Given the description of an element on the screen output the (x, y) to click on. 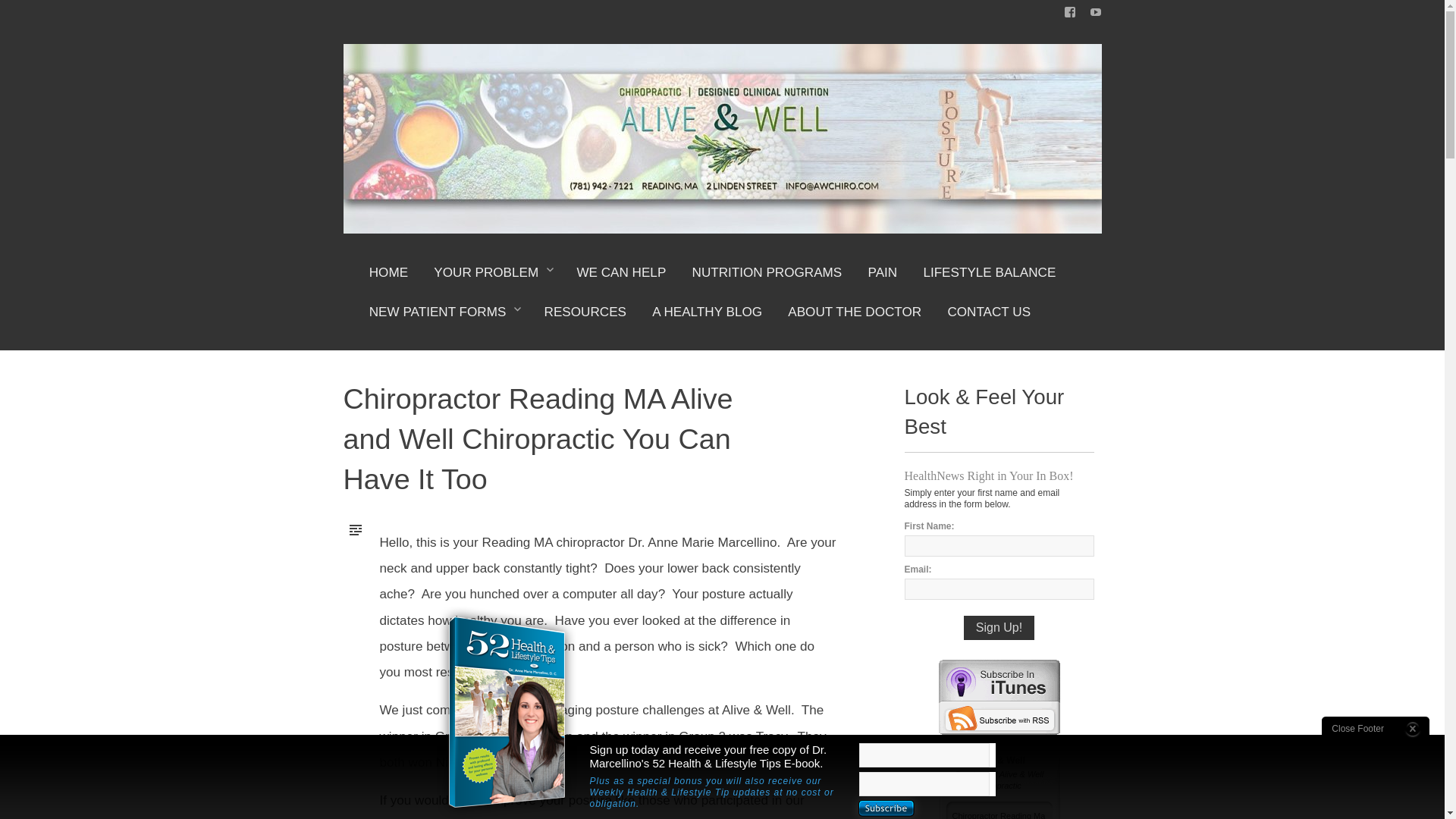
Subscribe (886, 807)
HOME (388, 279)
YOUR PROBLEM (491, 279)
Subscribe Via iTunes (999, 680)
Sign Up! (998, 627)
Subscribe in a Reader (999, 717)
